Given the description of an element on the screen output the (x, y) to click on. 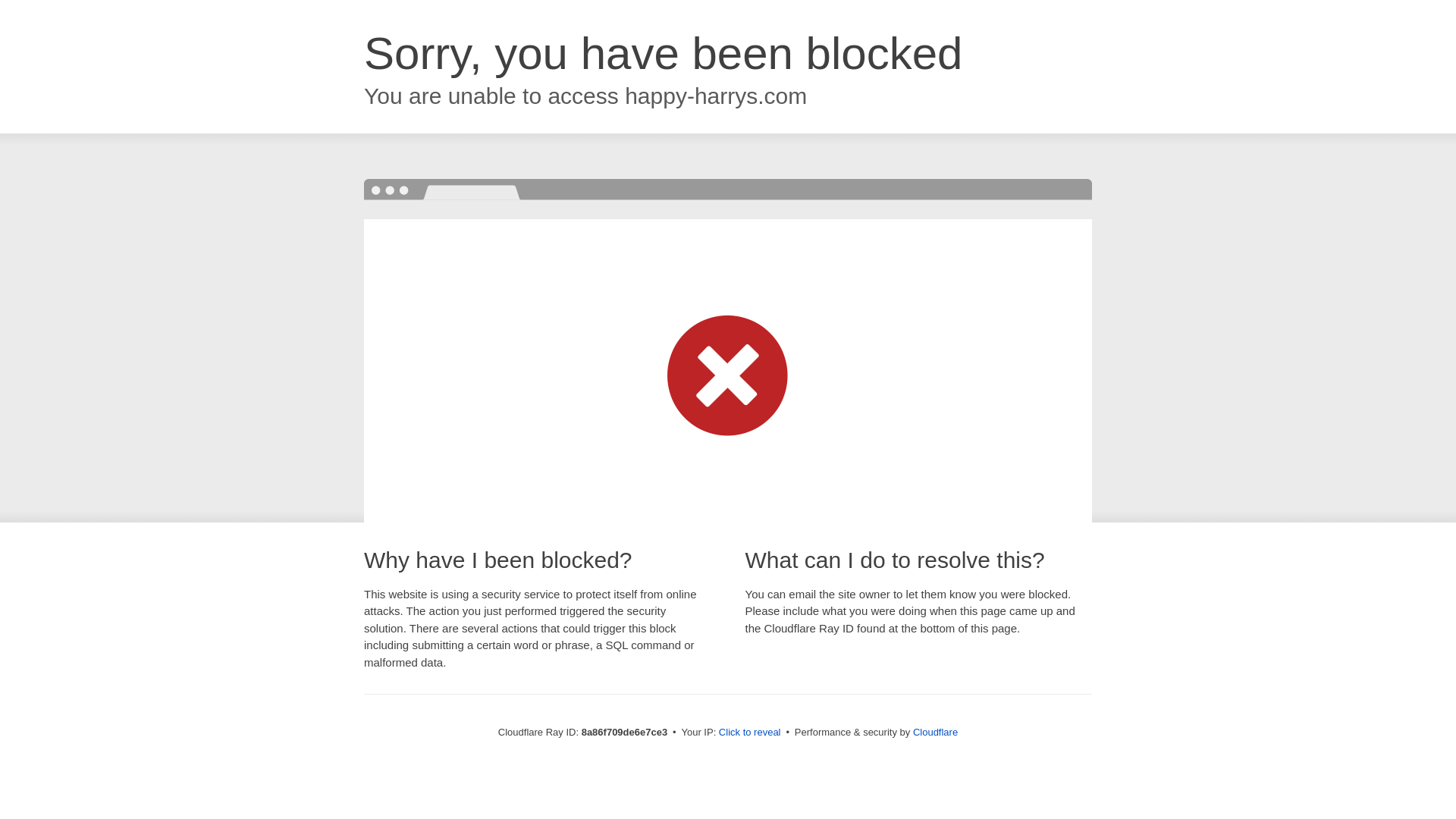
Click to reveal (749, 732)
Cloudflare (935, 731)
